Given the description of an element on the screen output the (x, y) to click on. 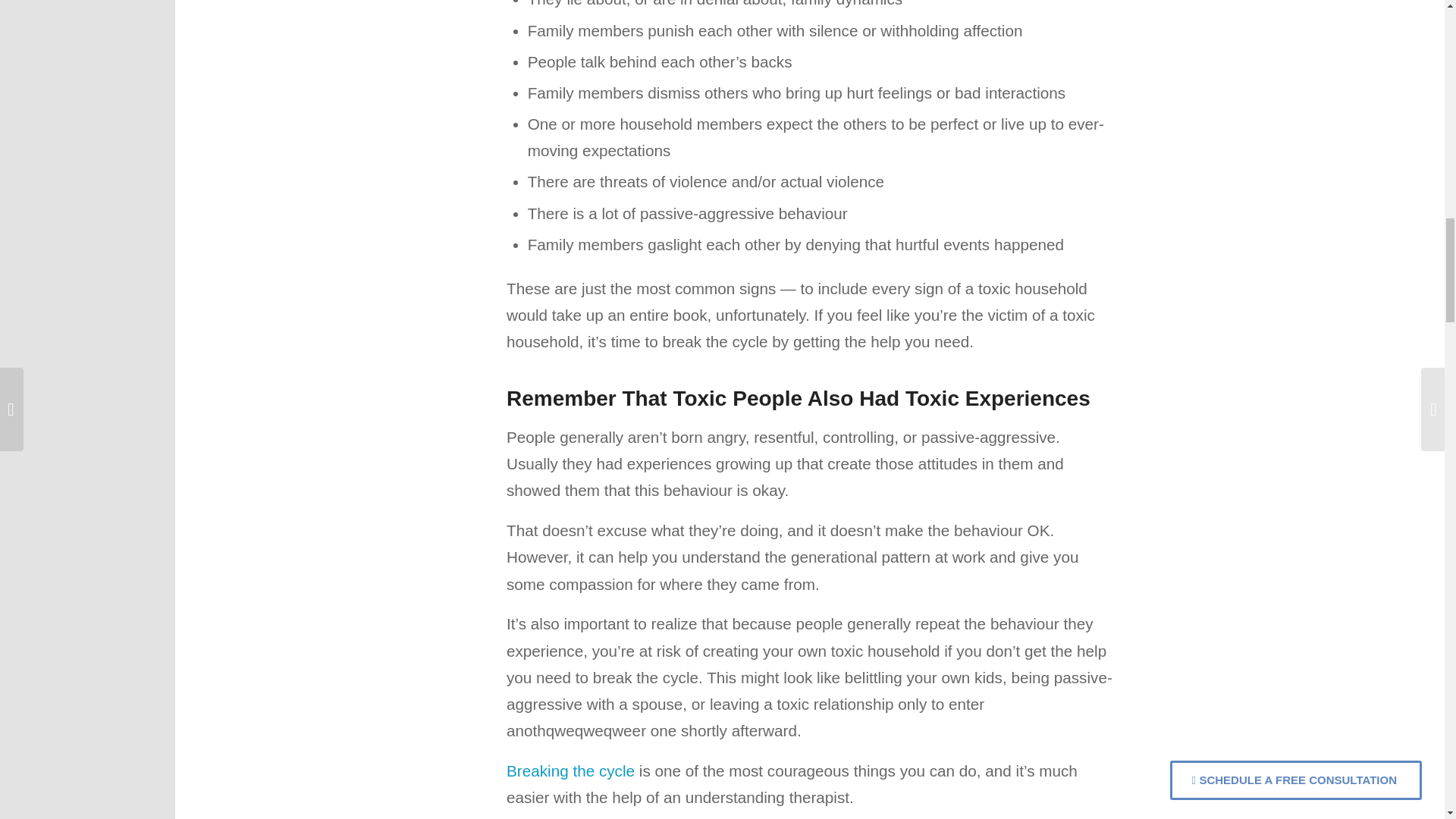
Breaking the cycle (570, 770)
